Given the description of an element on the screen output the (x, y) to click on. 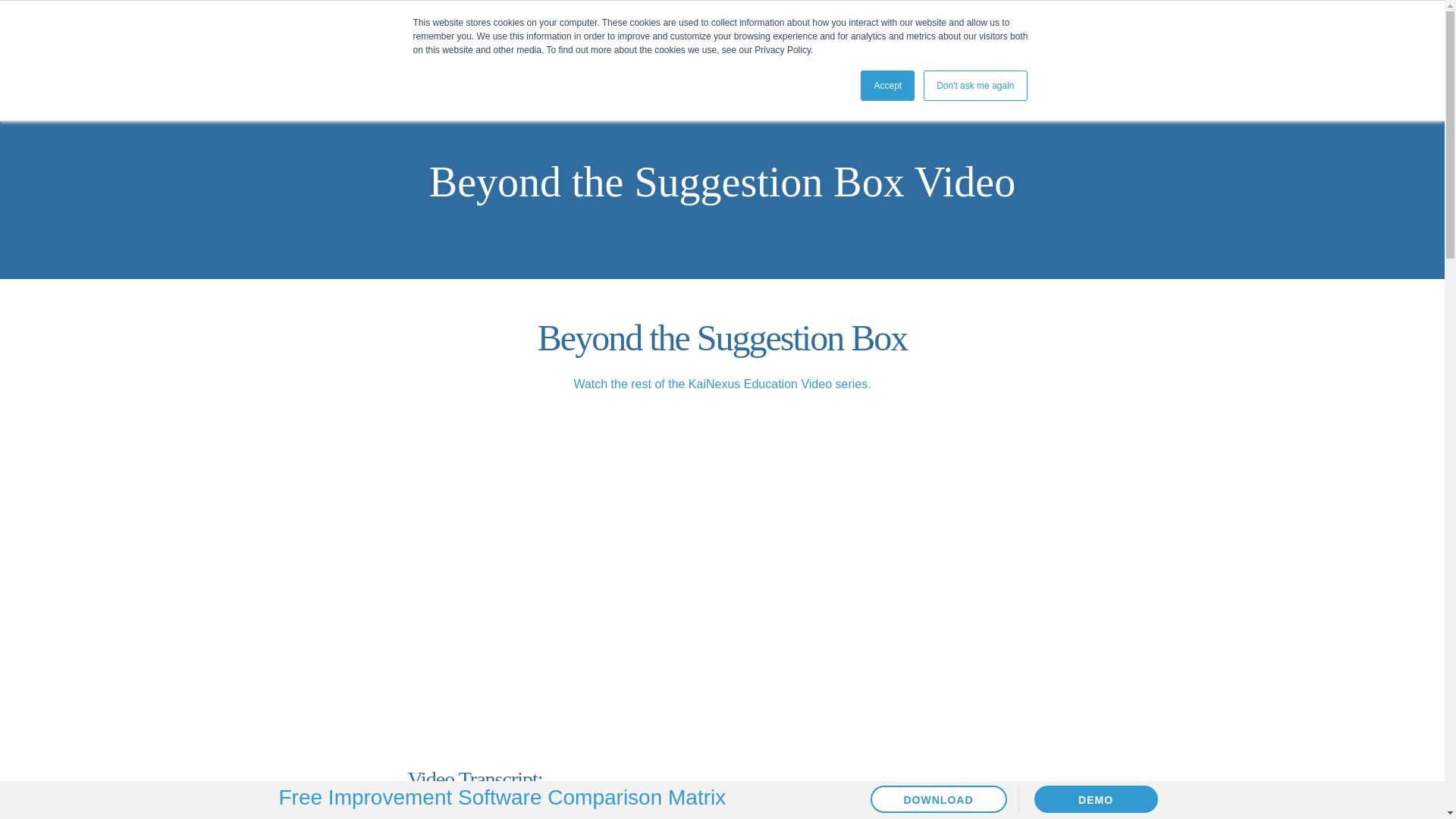
Kainexus Logo (334, 56)
Solutions (595, 64)
DEMO (1095, 799)
Why KaiNexus? (494, 64)
Don't ask me again (974, 85)
Features (672, 64)
Get a Demo (1105, 58)
Accept (887, 85)
